Given the description of an element on the screen output the (x, y) to click on. 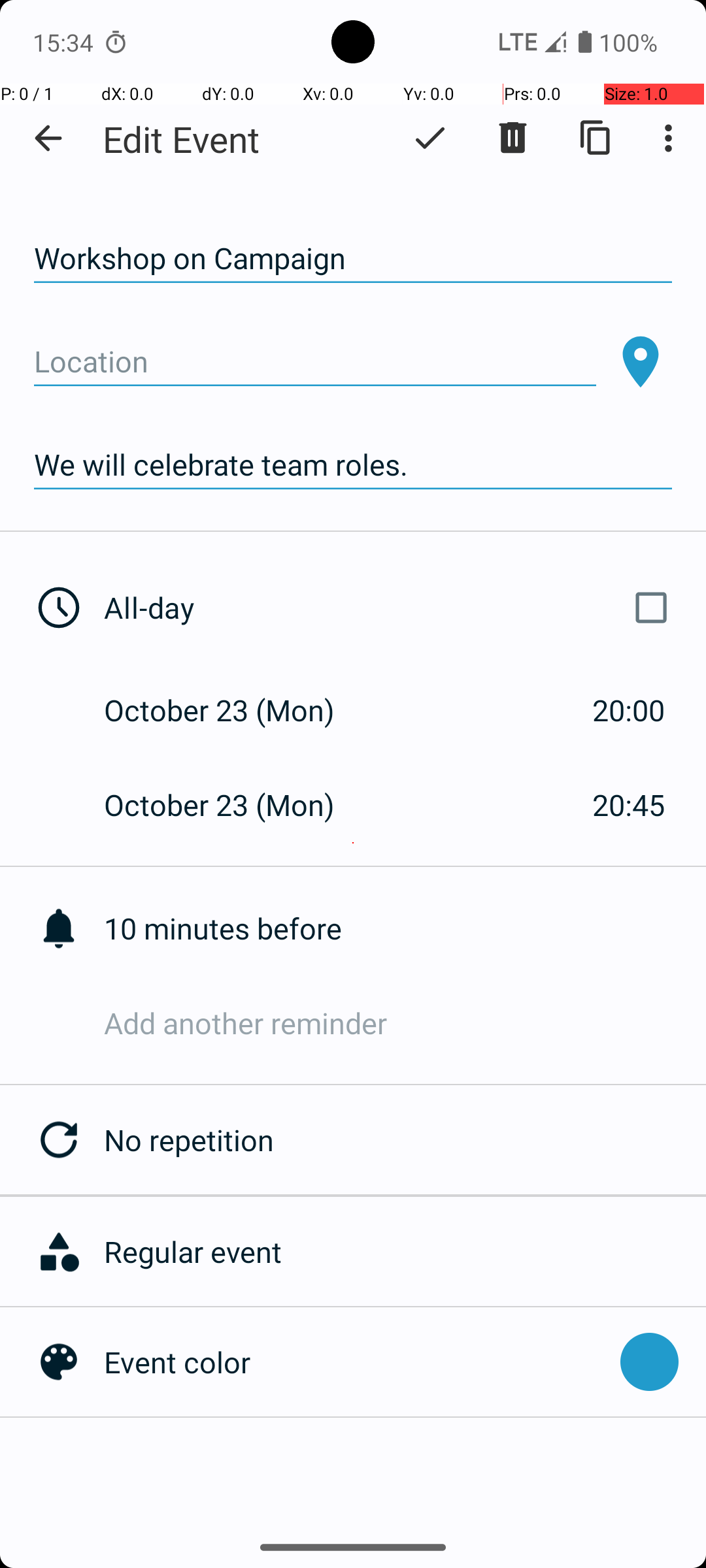
We will celebrate team roles. Element type: android.widget.EditText (352, 465)
October 23 (Mon) Element type: android.widget.TextView (232, 709)
20:45 Element type: android.widget.TextView (628, 804)
Add another reminder Element type: android.widget.TextView (404, 1022)
